Given the description of an element on the screen output the (x, y) to click on. 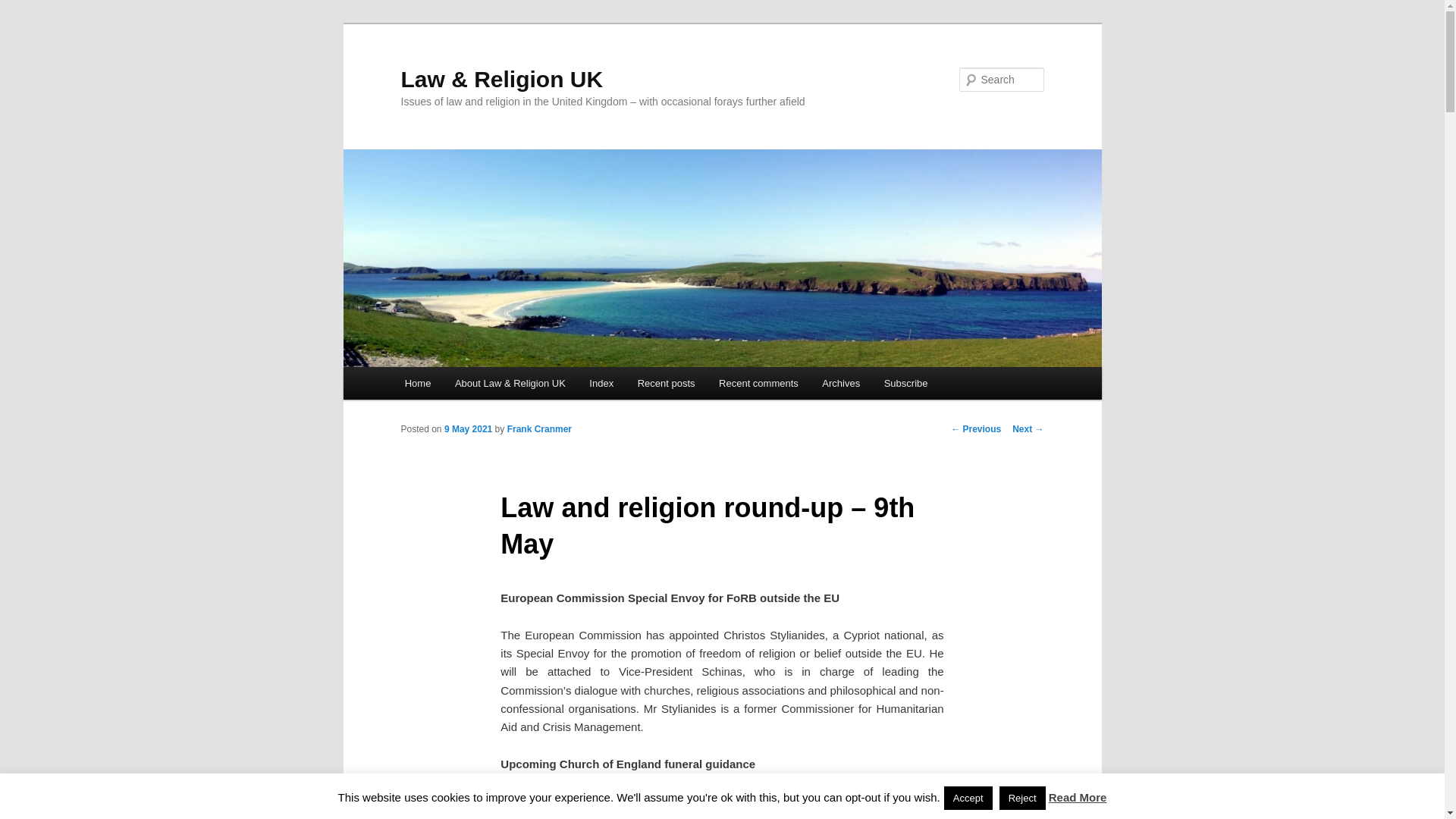
Archives (841, 382)
indicated (668, 800)
9 May 2021 (468, 429)
Index (602, 382)
Recent posts (666, 382)
Home (417, 382)
Subscribe (905, 382)
Recent comments (757, 382)
Frank Cranmer (539, 429)
Search (24, 8)
